Given the description of an element on the screen output the (x, y) to click on. 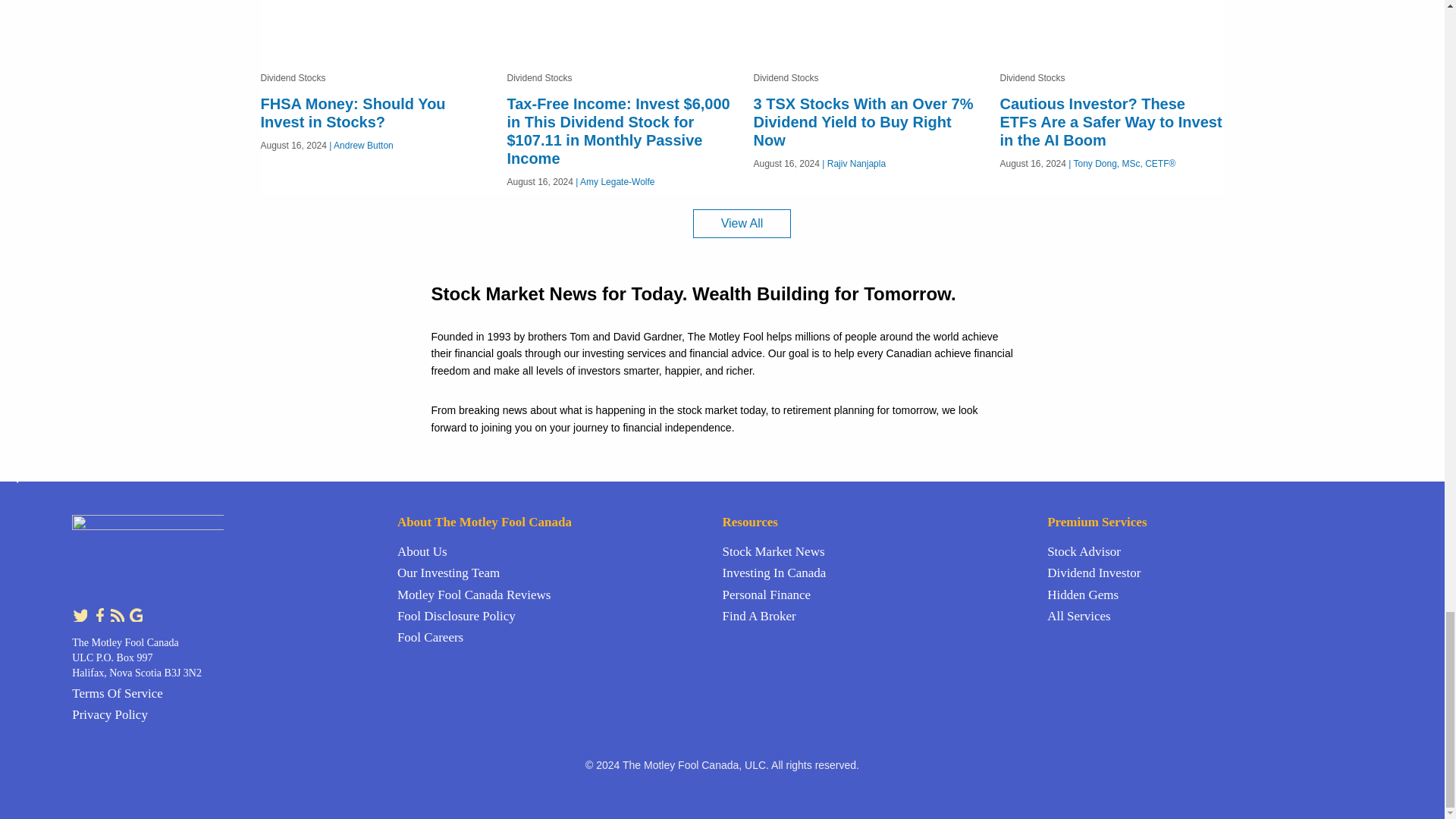
Follow us on Google News (135, 613)
Subscribe to our feed (118, 613)
Follow us on Twitter (80, 613)
Like us on Facebook (99, 613)
